Given the description of an element on the screen output the (x, y) to click on. 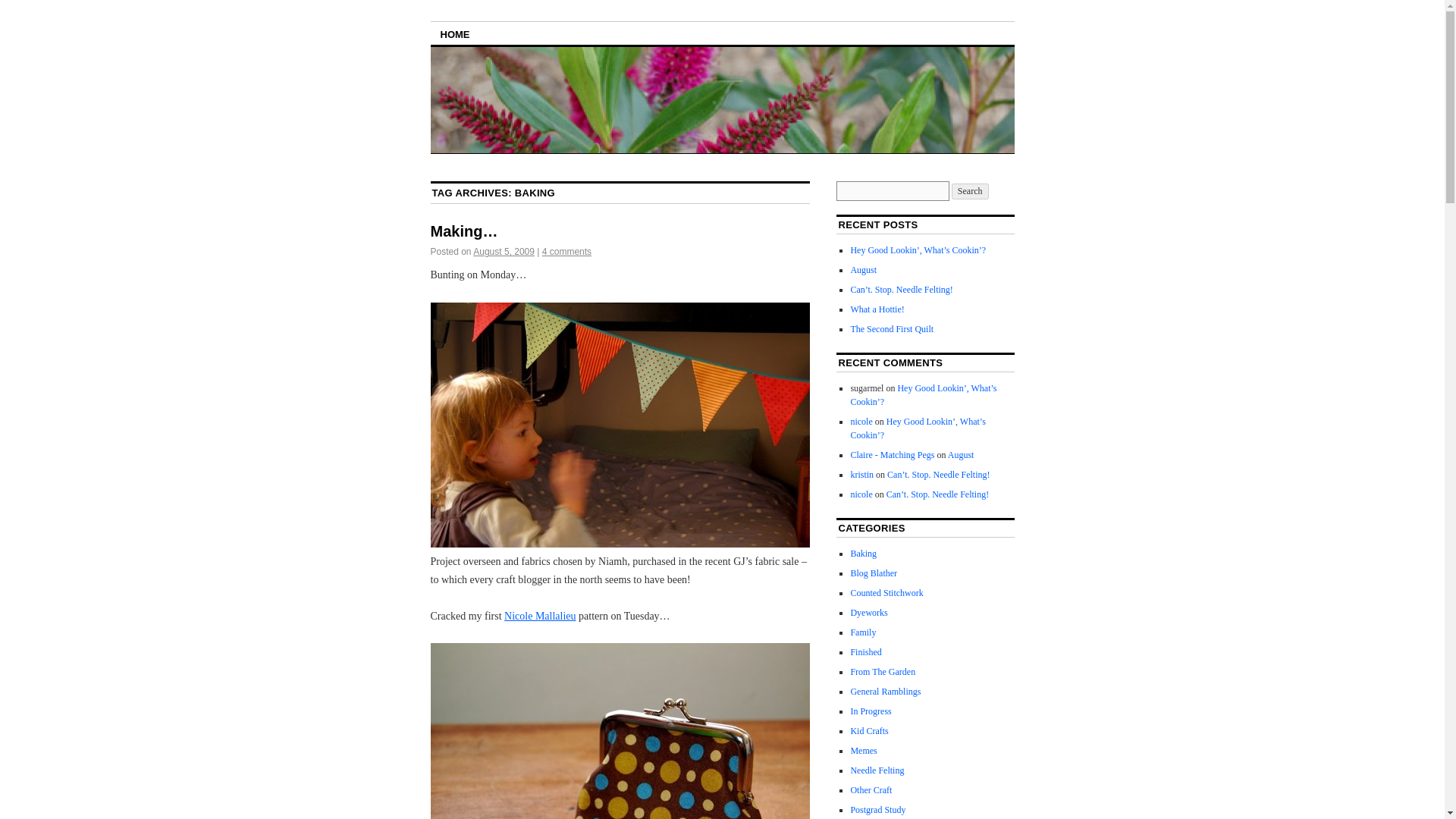
4 comments (566, 251)
7:16 pm (503, 251)
Search (970, 191)
HOME (455, 33)
Purse01a (619, 730)
Bunting (619, 424)
Nicole Mallalieu (539, 615)
August 5, 2009 (503, 251)
